Given the description of an element on the screen output the (x, y) to click on. 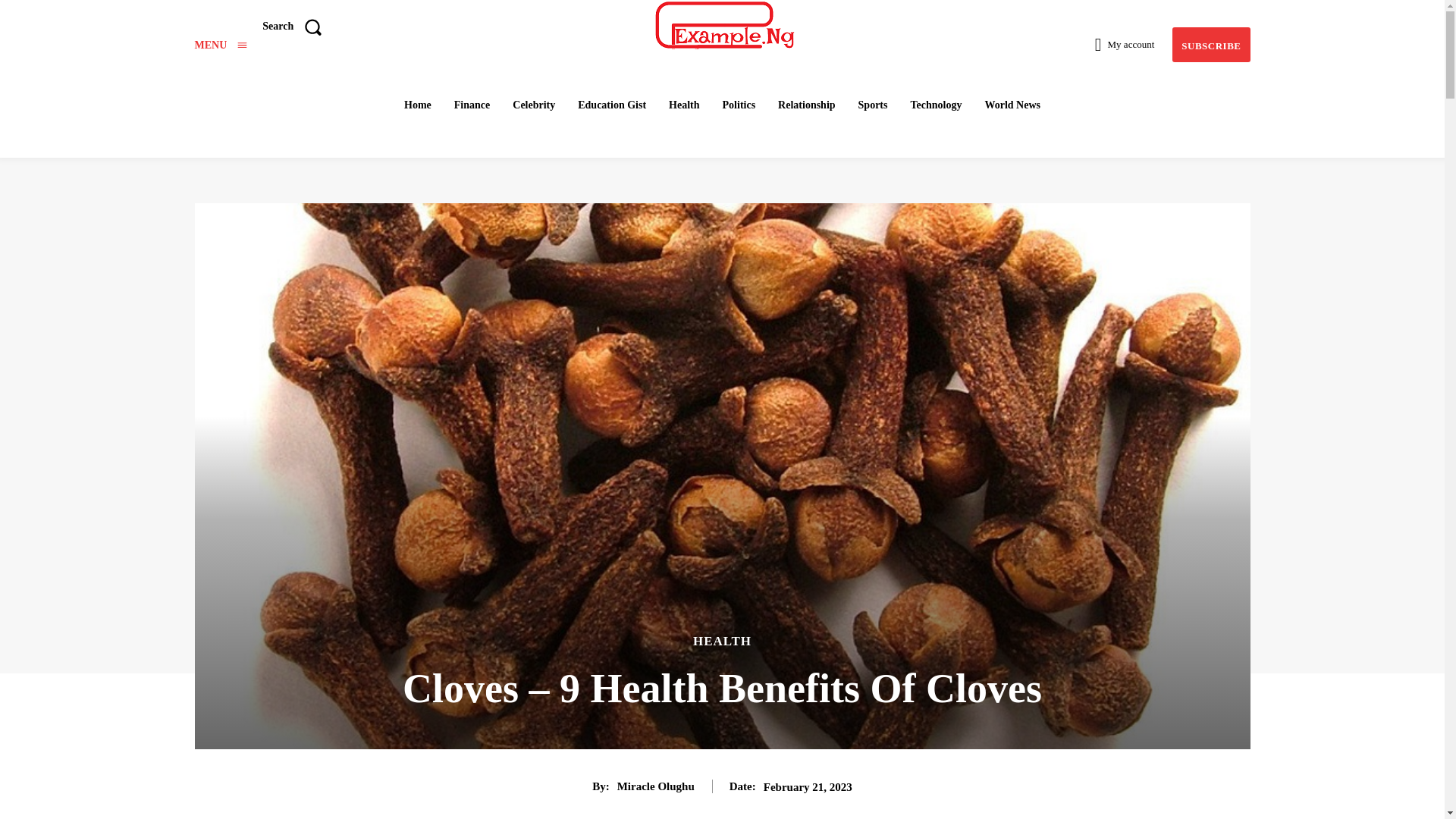
Subscribe (1210, 45)
World News (1012, 105)
Example.Ng (724, 24)
Technology (935, 105)
SUBSCRIBE (1210, 45)
Search (296, 26)
Example.Ng (724, 24)
Politics (738, 105)
Sports (872, 105)
Finance (471, 105)
